Given the description of an element on the screen output the (x, y) to click on. 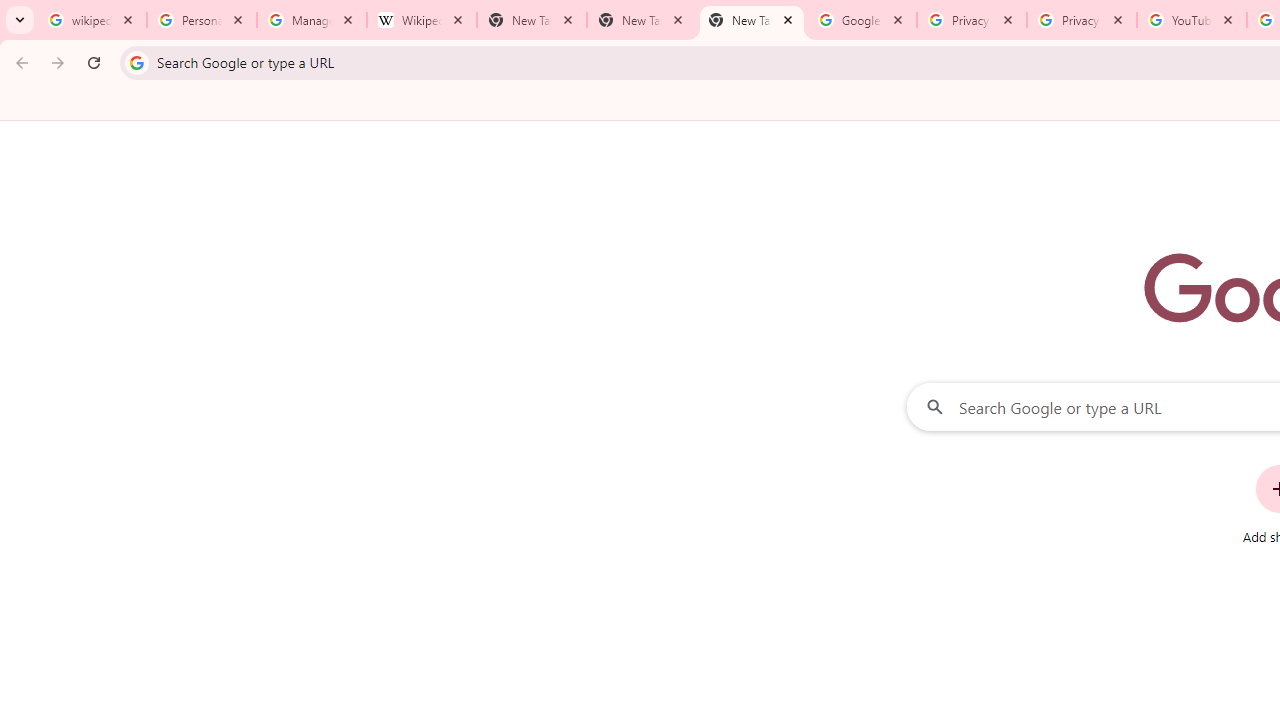
Personalization & Google Search results - Google Search Help (202, 20)
Manage your Location History - Google Search Help (312, 20)
New Tab (642, 20)
Search icon (136, 62)
New Tab (752, 20)
Wikipedia:Edit requests - Wikipedia (422, 20)
Google Drive: Sign-in (861, 20)
YouTube (1191, 20)
